Given the description of an element on the screen output the (x, y) to click on. 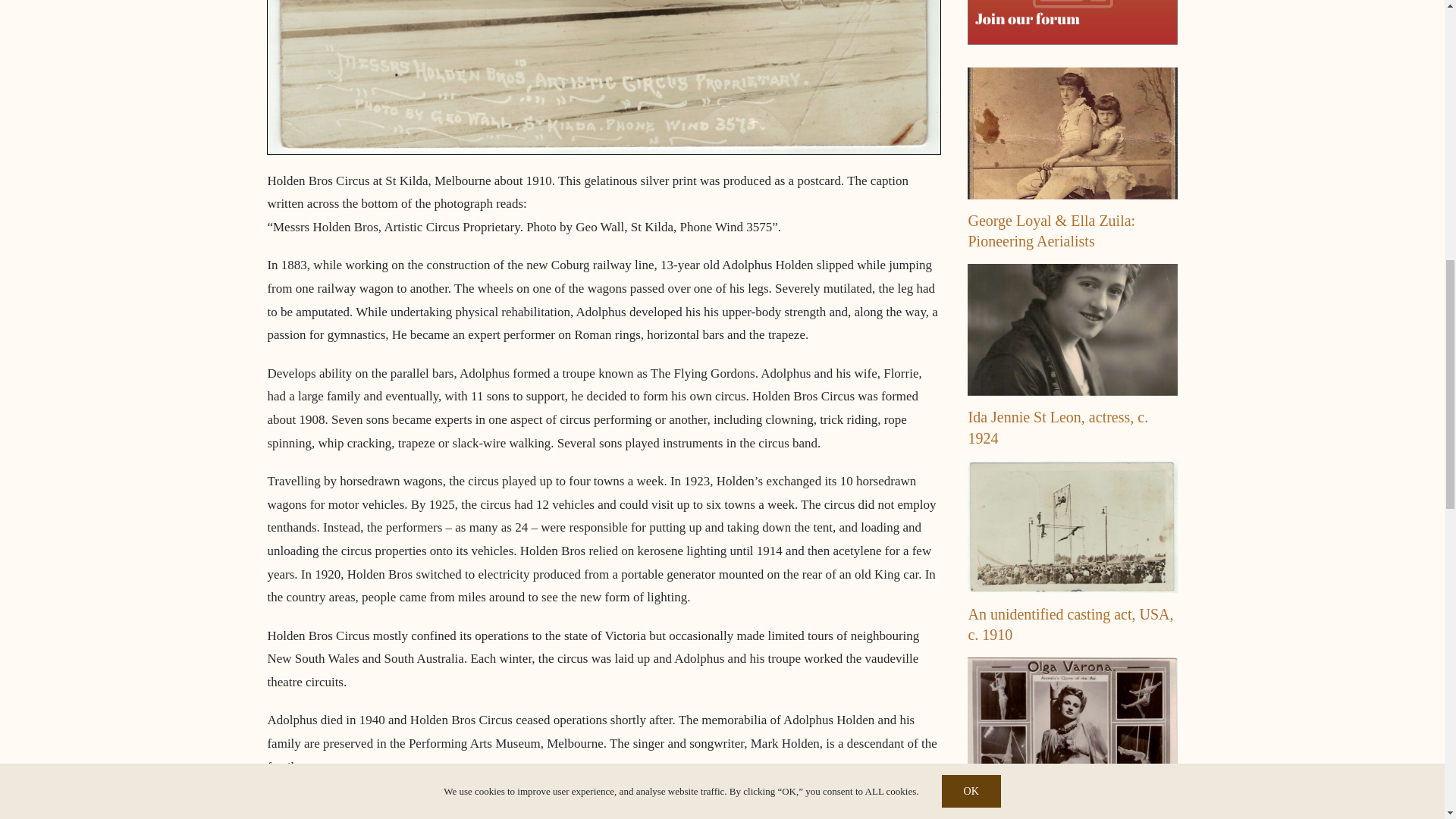
holden-bros-circus (603, 76)
